Given the description of an element on the screen output the (x, y) to click on. 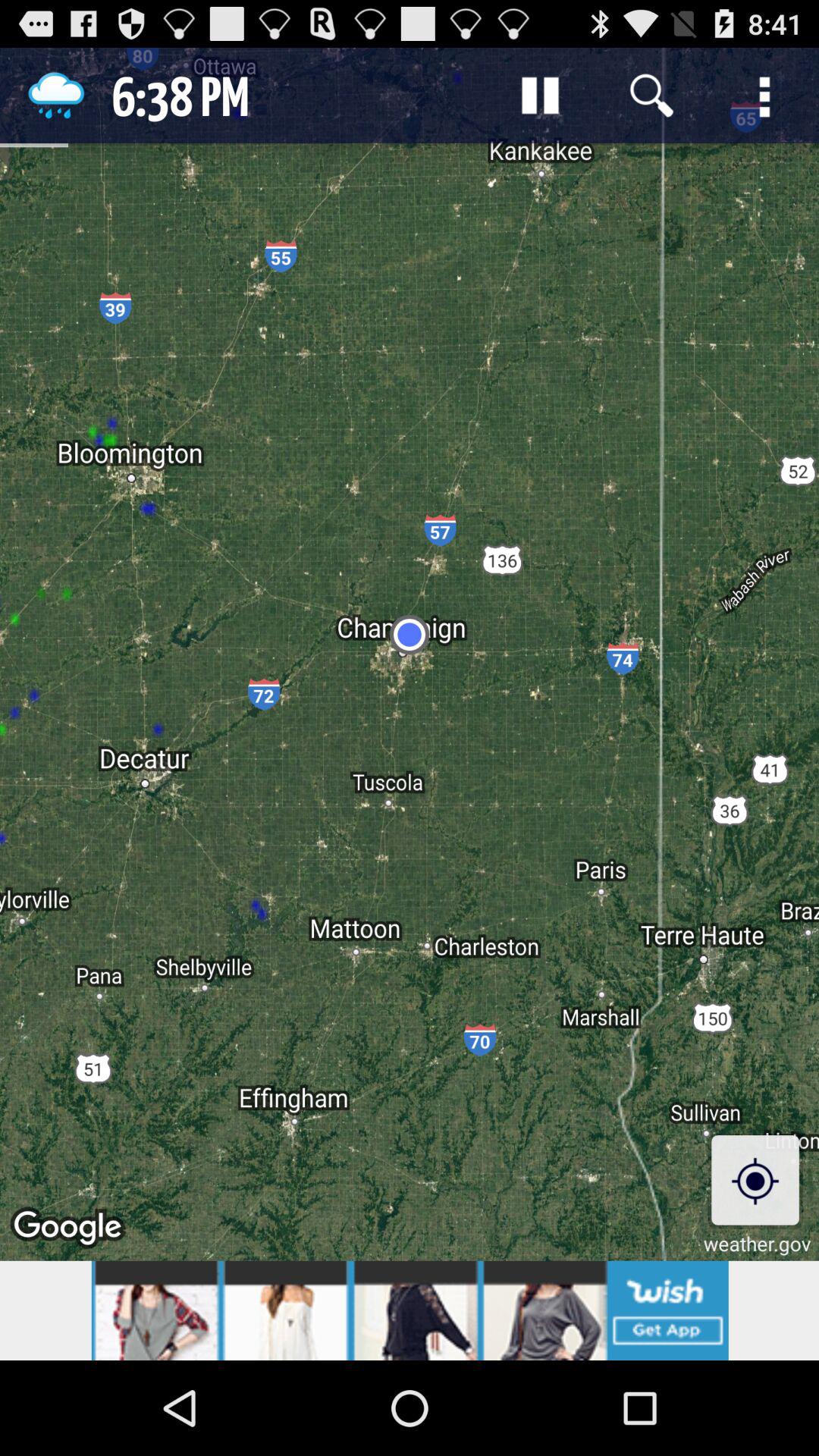
advertisement (409, 1310)
